Given the description of an element on the screen output the (x, y) to click on. 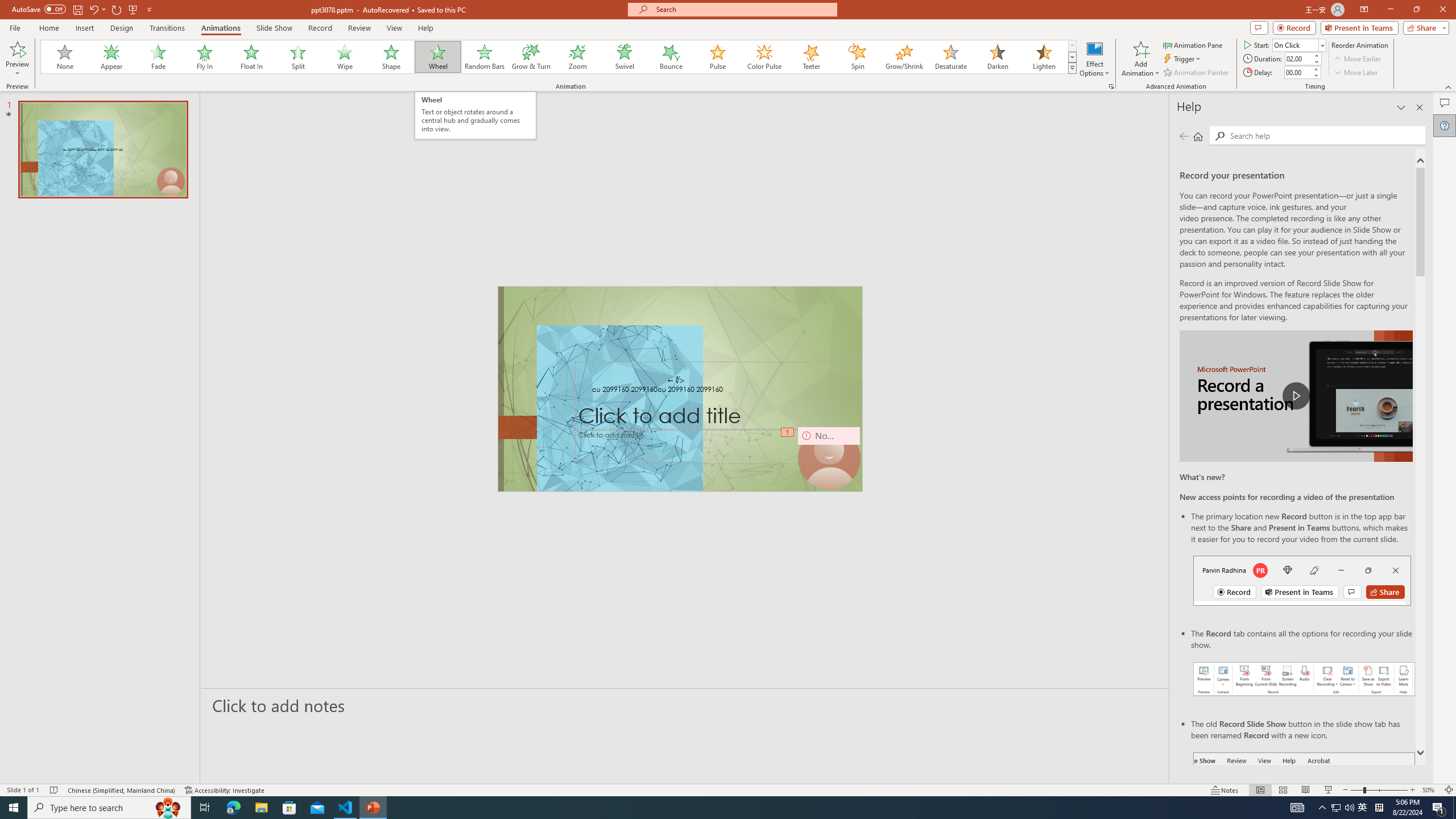
Add Animation (1141, 58)
AutomationID: AnimationGallery (558, 56)
Float In (251, 56)
TextBox 61 (679, 389)
Spin (857, 56)
Animation Painter (1196, 72)
Pulse (717, 56)
play Record a Presentation (1296, 395)
